Given the description of an element on the screen output the (x, y) to click on. 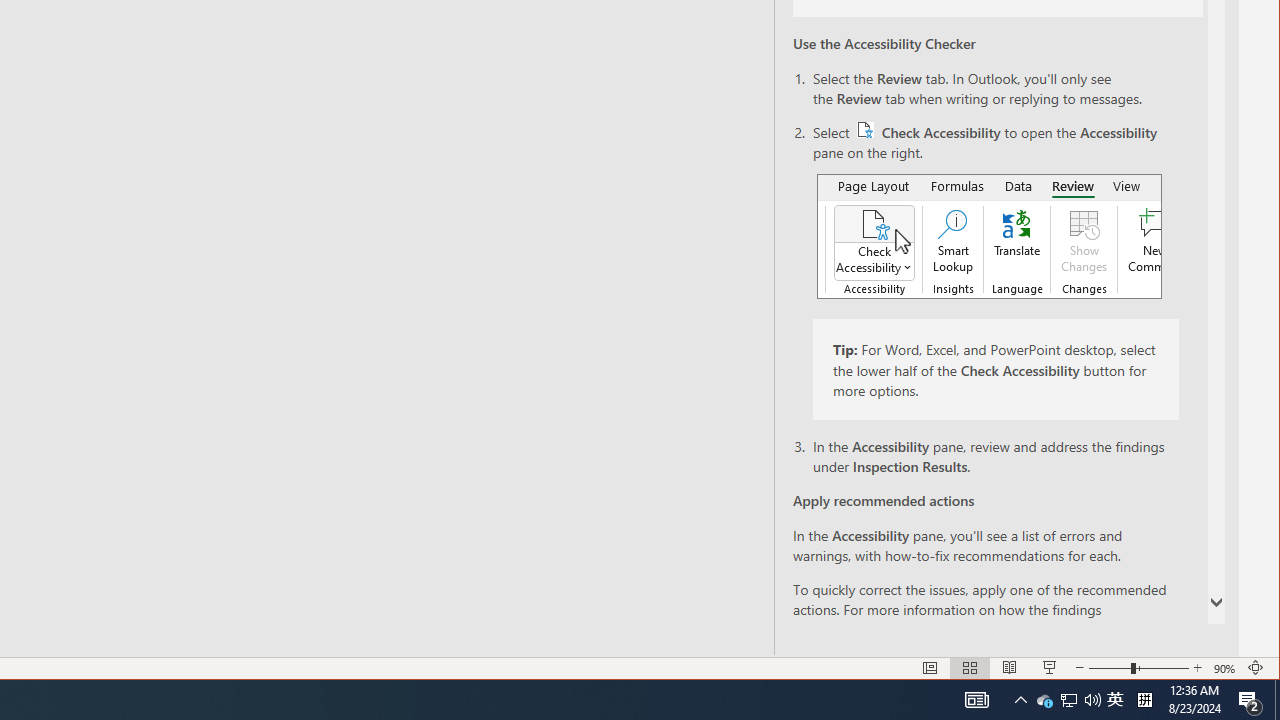
Check accessibility button (865, 129)
Rules for the Accessibility Checker (1025, 628)
